Given the description of an element on the screen output the (x, y) to click on. 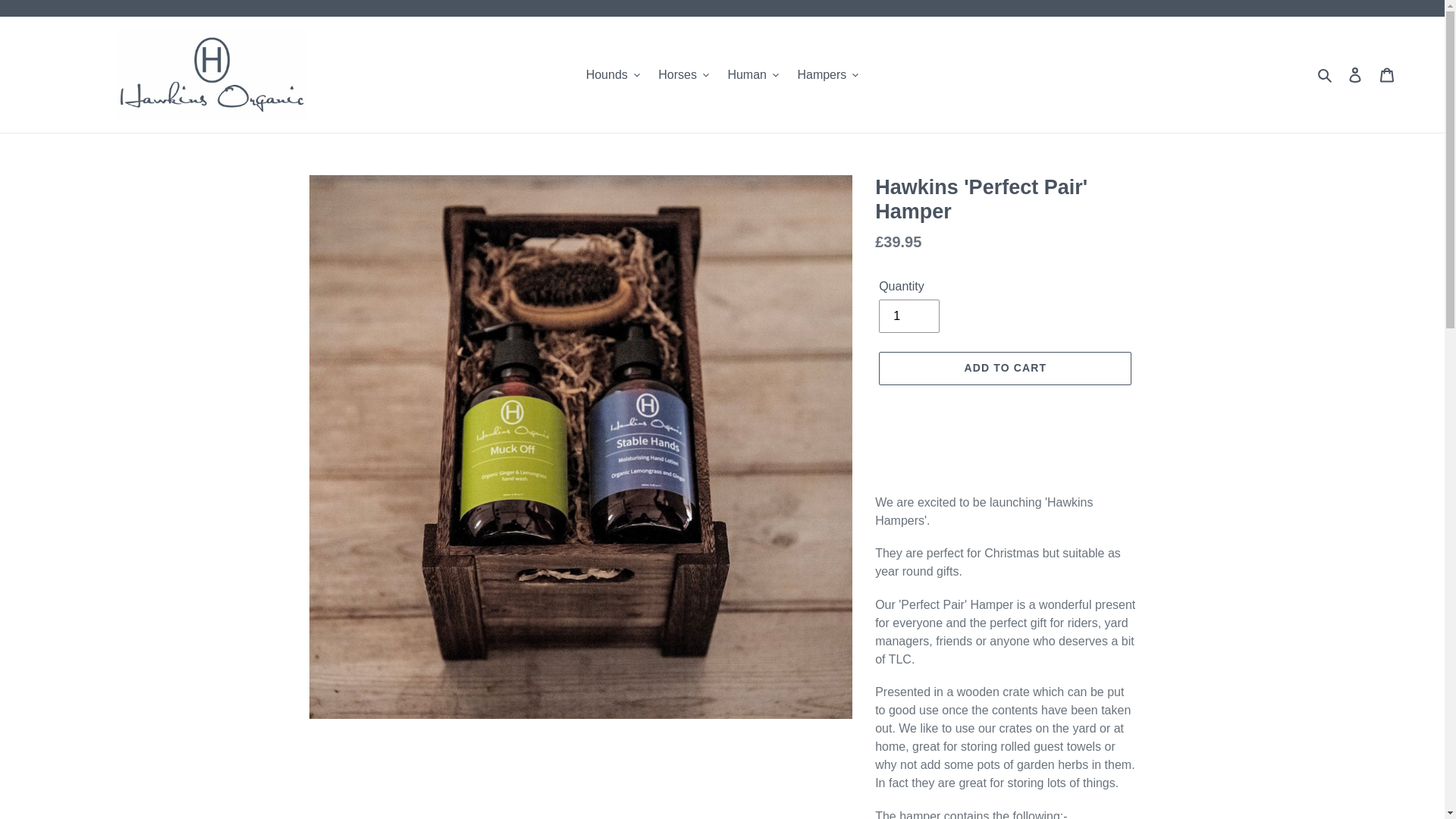
Log in (1355, 73)
Hampers (827, 74)
1 (909, 315)
Hounds (612, 74)
Search (1326, 75)
Horses (683, 74)
Cart (1387, 73)
Human (752, 74)
